Given the description of an element on the screen output the (x, y) to click on. 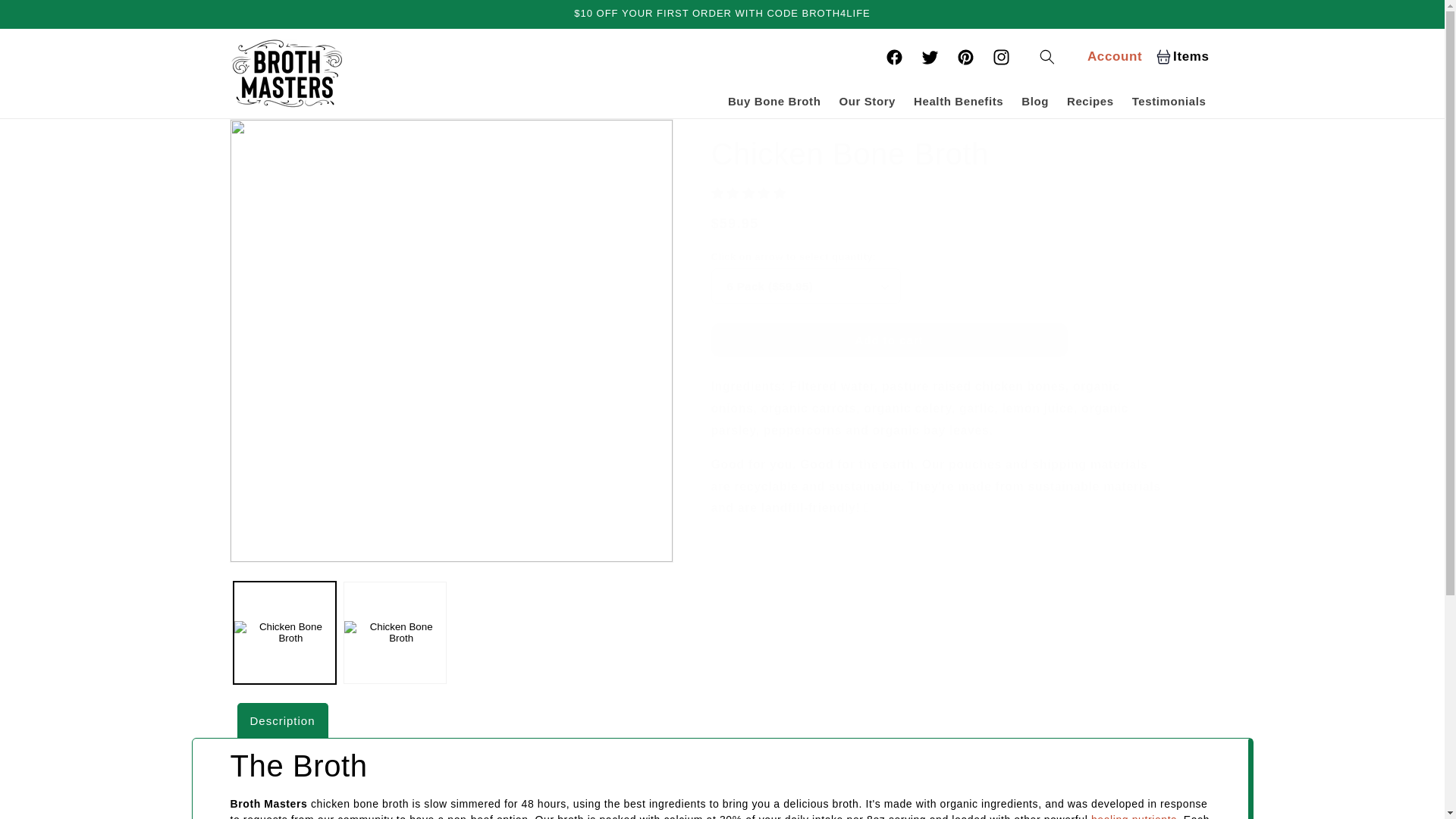
Twitter (929, 57)
Recipes (1090, 101)
Skip to content (45, 16)
Buy Bone Broth (774, 101)
Open media 1 in modal (1185, 56)
Testimonials (965, 57)
Blog (1168, 101)
Facebook (1034, 101)
Instagram (894, 57)
Our Story (1001, 57)
health benefits (866, 101)
Skip to product information (1133, 816)
Health Benefits (274, 134)
